Given the description of an element on the screen output the (x, y) to click on. 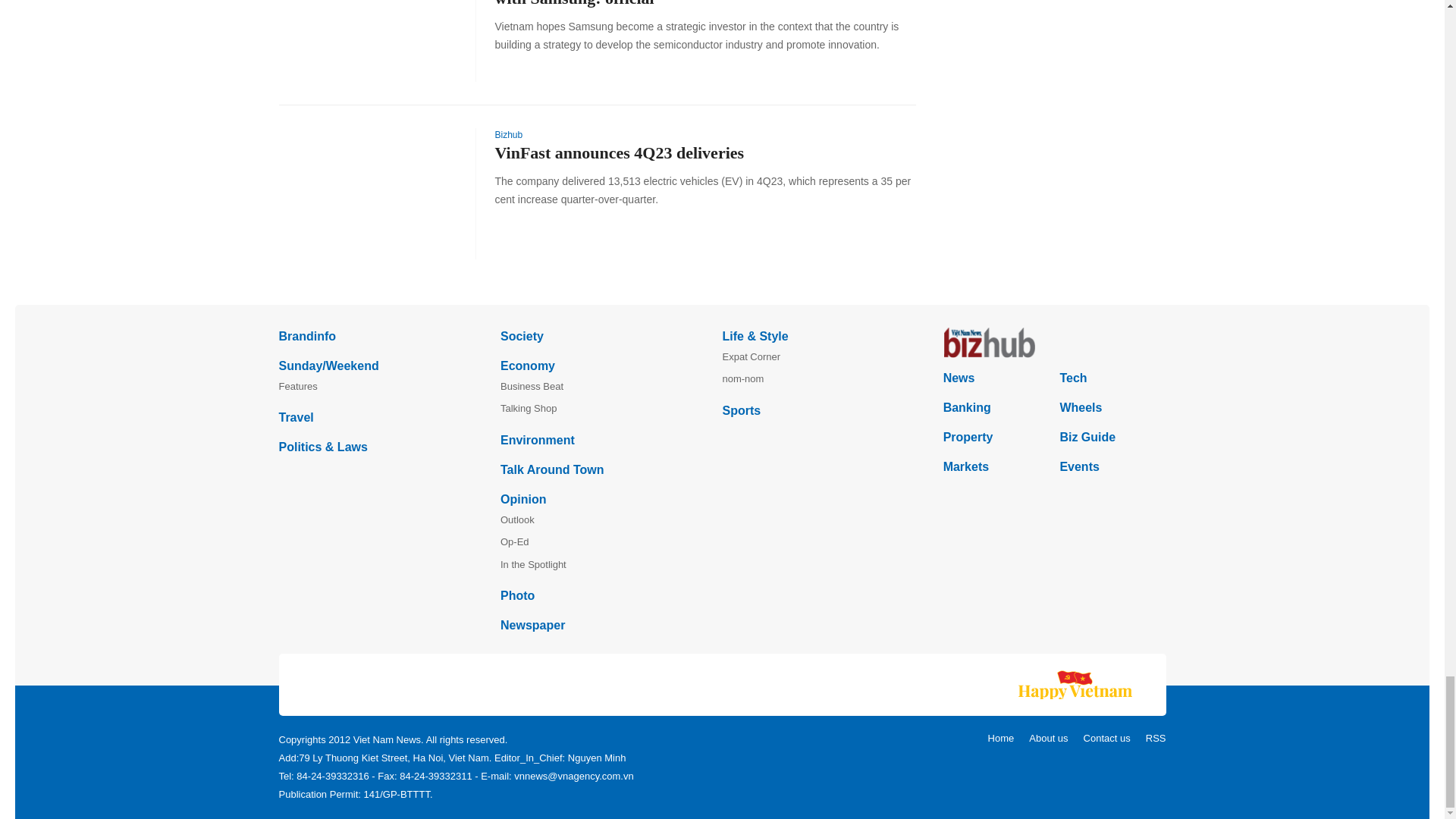
bizhub (1054, 342)
